Given the description of an element on the screen output the (x, y) to click on. 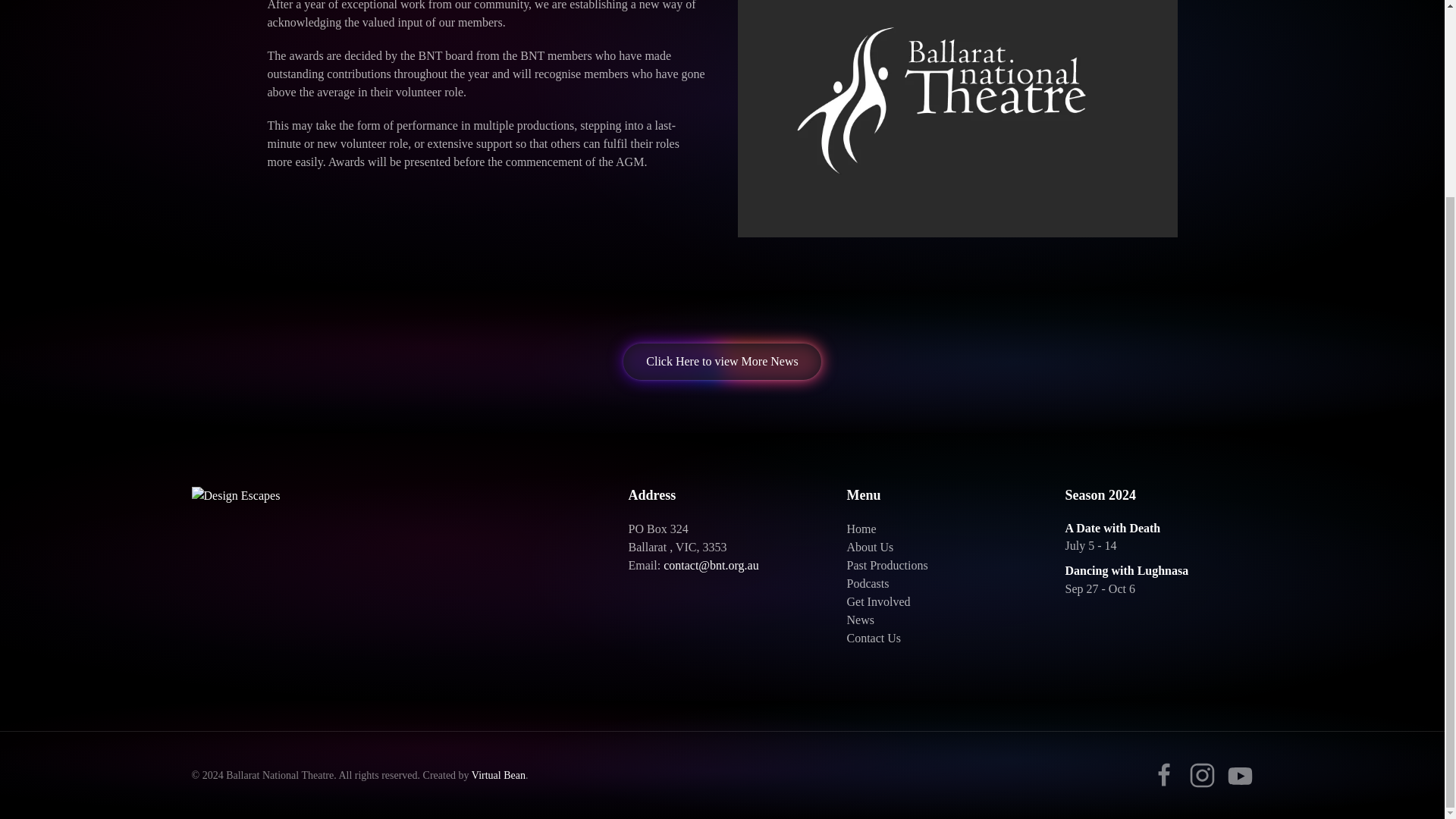
Menu (939, 495)
Season 2024 (1158, 495)
Address (721, 495)
